Given the description of an element on the screen output the (x, y) to click on. 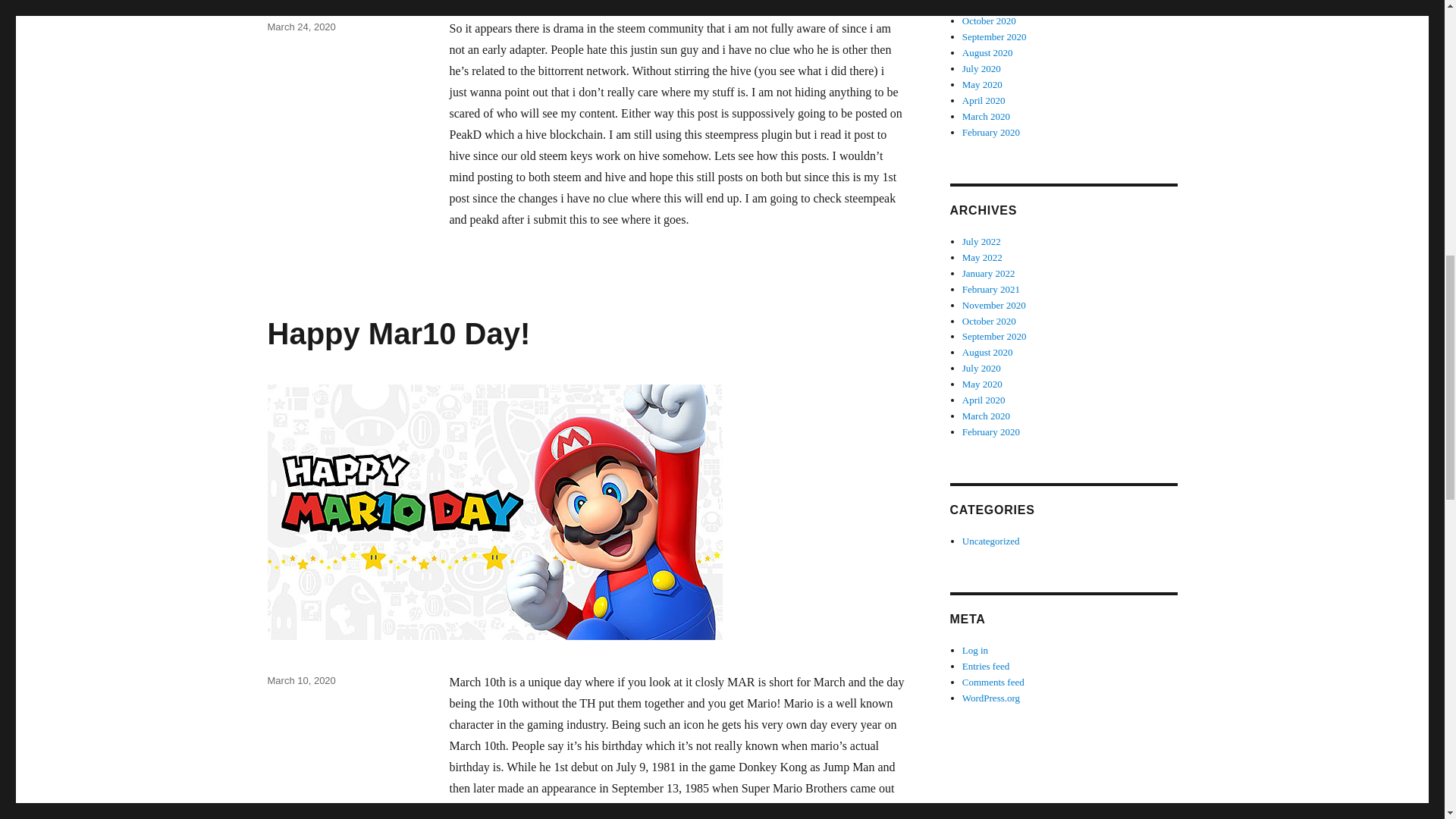
July 2020 (981, 68)
May 2022 (982, 256)
Happy Mar10 Day! (397, 333)
July 2022 (981, 241)
January 2022 (988, 273)
November 2020 (994, 305)
March 2020 (986, 116)
November 2020 (994, 5)
April 2020 (984, 100)
October 2020 (989, 20)
